Given the description of an element on the screen output the (x, y) to click on. 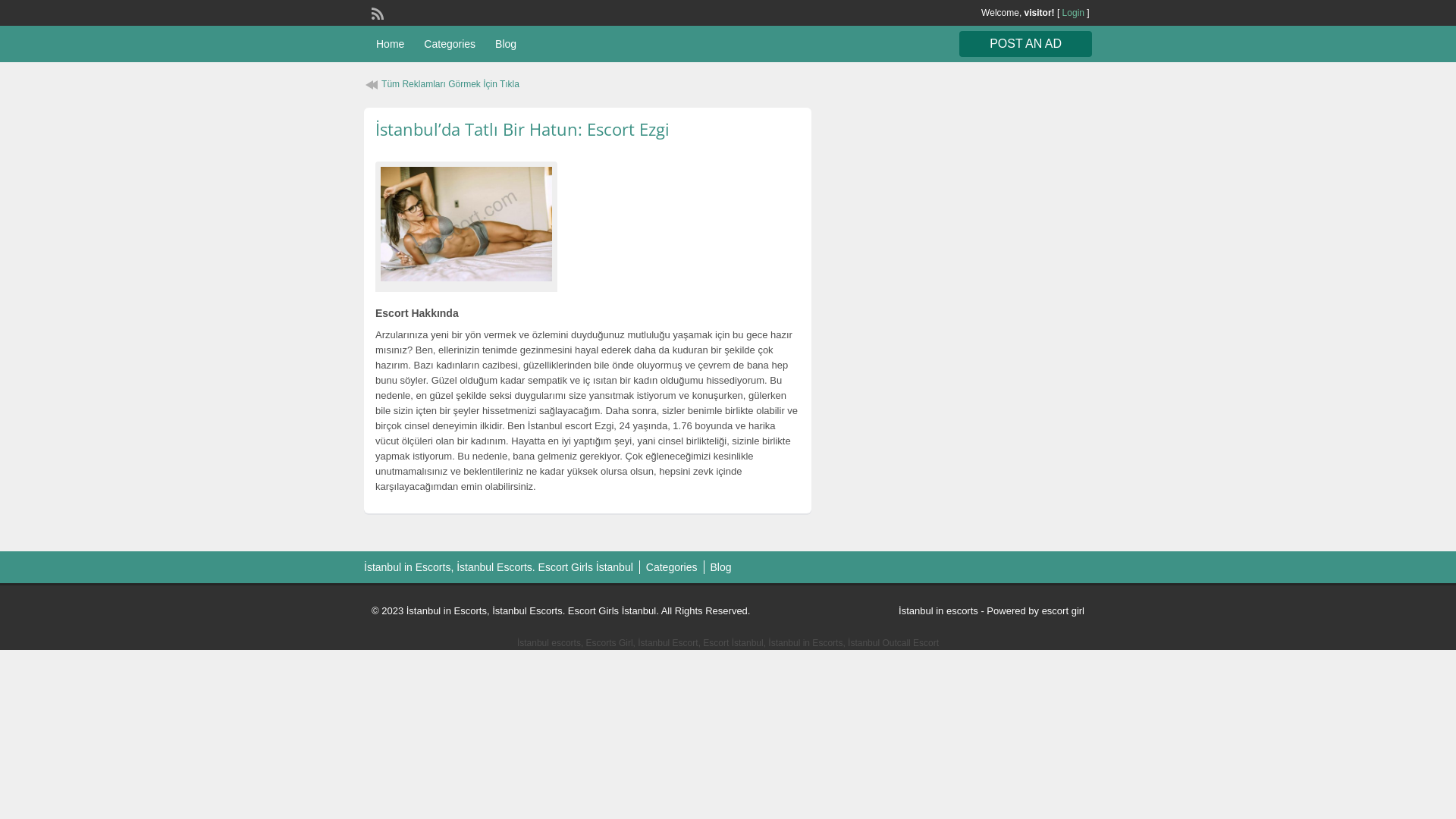
Blog Element type: text (720, 567)
Blog Element type: text (505, 43)
Login Element type: text (1073, 12)
POST AN AD Element type: text (1025, 43)
RSS Feed Element type: hover (376, 12)
Categories Element type: text (449, 43)
escort girl Element type: text (1062, 610)
Categories Element type: text (671, 567)
Home Element type: text (389, 43)
